Given the description of an element on the screen output the (x, y) to click on. 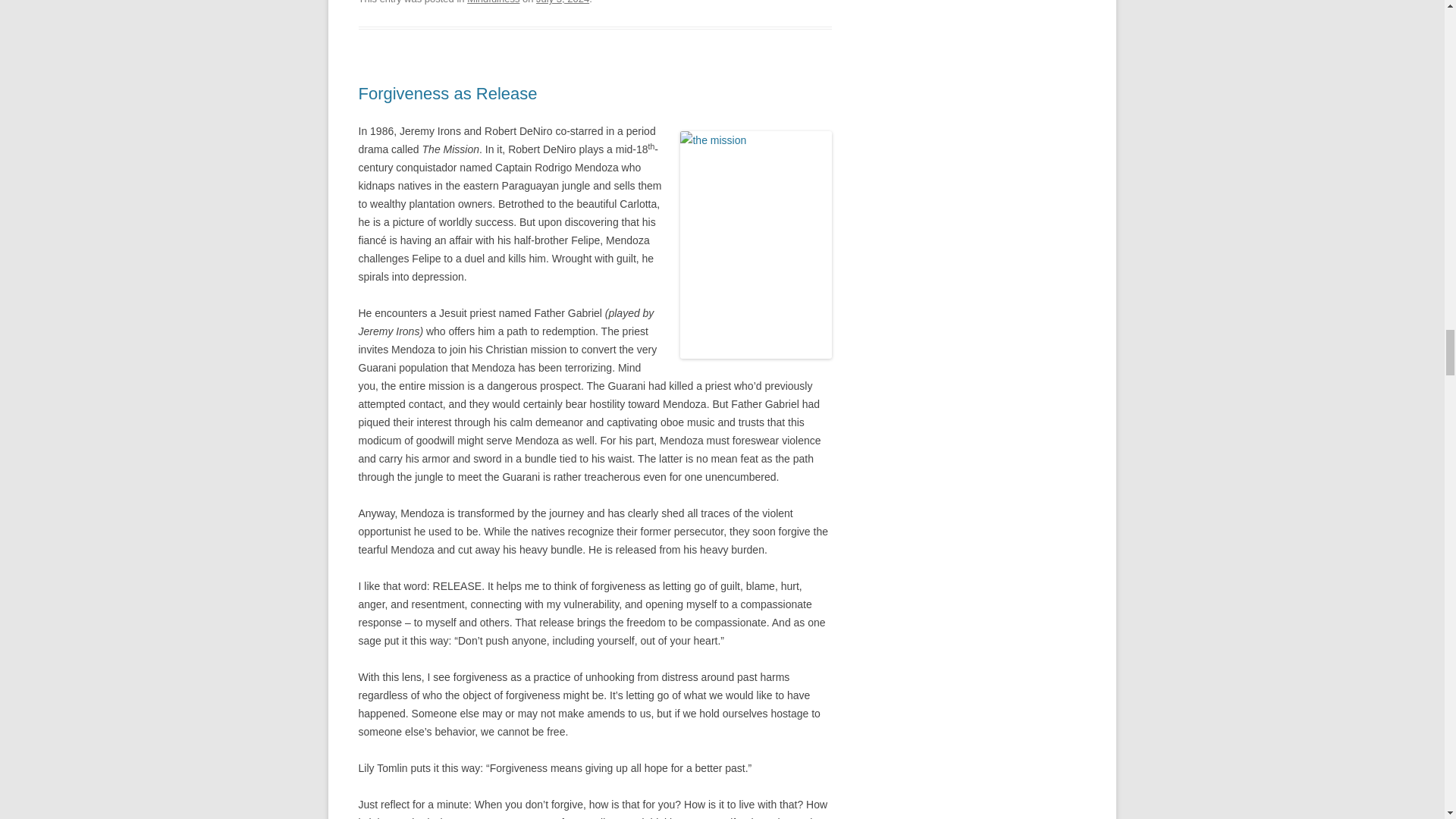
Forgiveness as Release (447, 93)
Mindfulness (493, 2)
6:00 am (562, 2)
July 3, 2024 (562, 2)
